Given the description of an element on the screen output the (x, y) to click on. 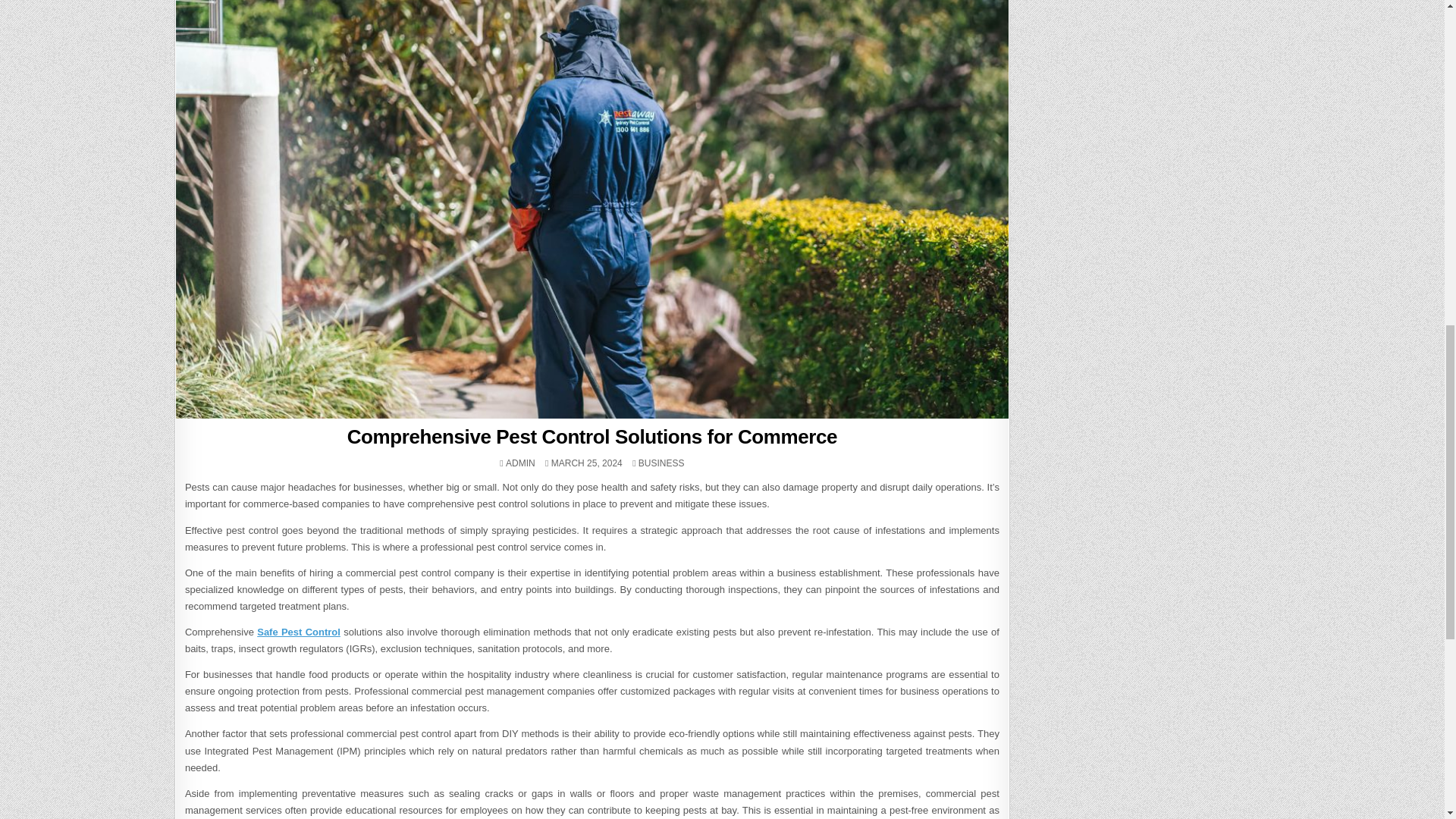
BUSINESS (661, 462)
Comprehensive Pest Control Solutions for Commerce (592, 436)
ADMIN (520, 462)
Safe Pest Control (298, 632)
